Given the description of an element on the screen output the (x, y) to click on. 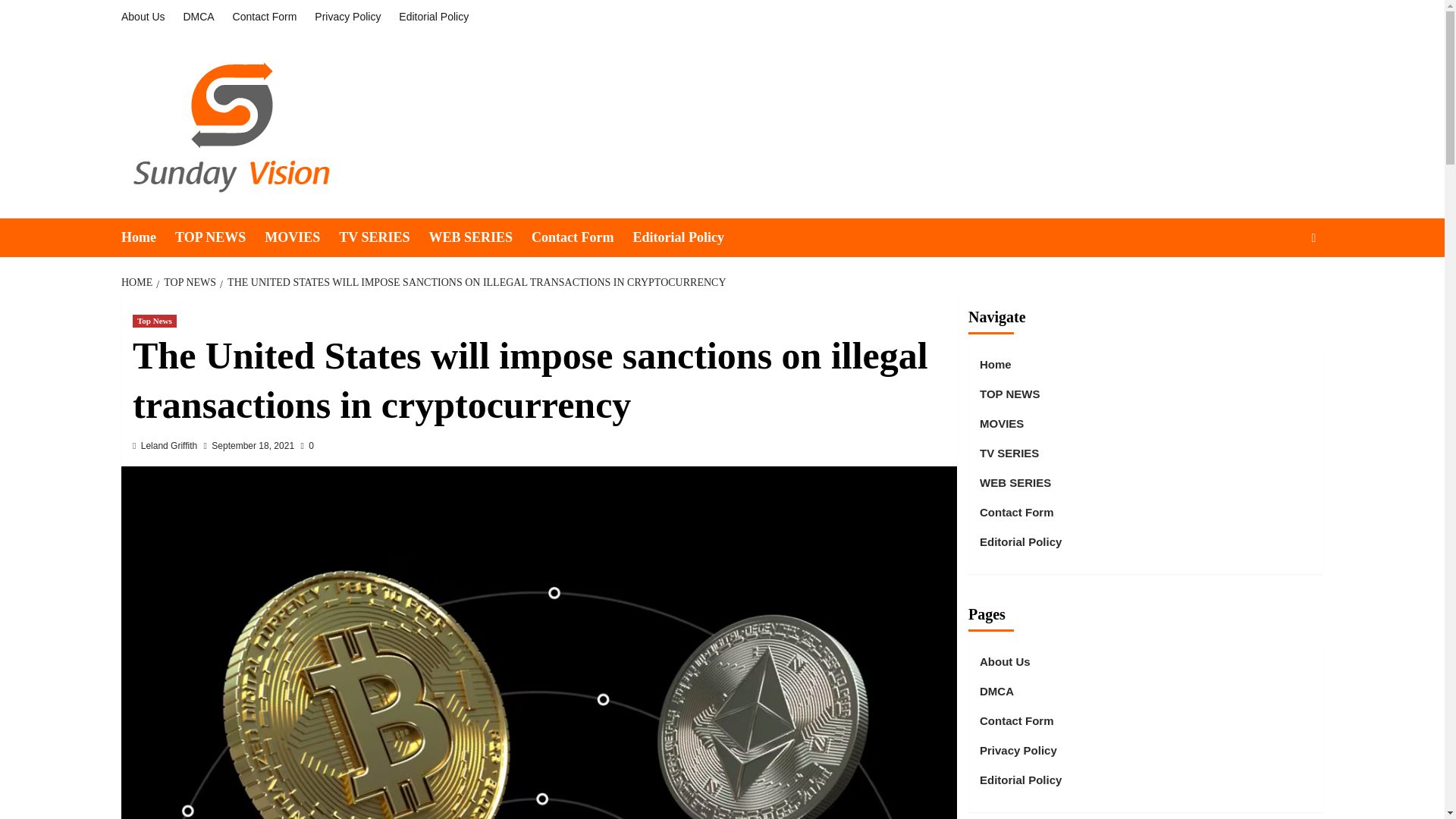
TOP NEWS (187, 282)
MOVIES (301, 237)
Contact Form (581, 237)
DMCA (197, 17)
0 (306, 445)
TOP NEWS (219, 237)
Top News (154, 320)
Privacy Policy (347, 17)
HOME (137, 282)
